Given the description of an element on the screen output the (x, y) to click on. 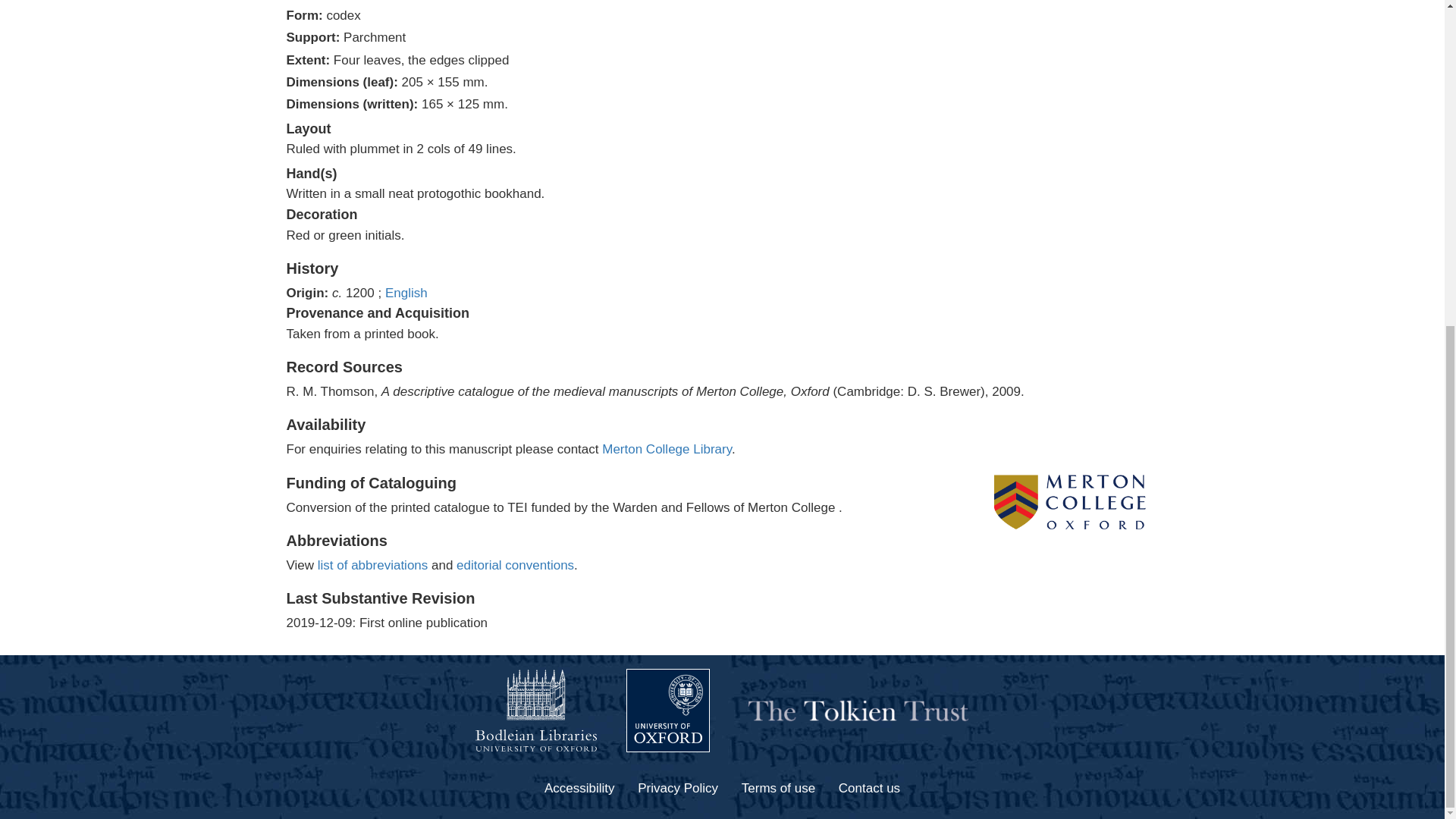
Terms of use (778, 788)
list of abbreviations (372, 564)
Contact us (868, 788)
Contact us (868, 788)
editorial conventions (515, 564)
Terms of use (778, 788)
English (406, 292)
Privacy Policy (677, 788)
Accessibility (579, 788)
Merton College Library (667, 449)
Privacy Policy (677, 788)
Accessibility (579, 788)
